Given the description of an element on the screen output the (x, y) to click on. 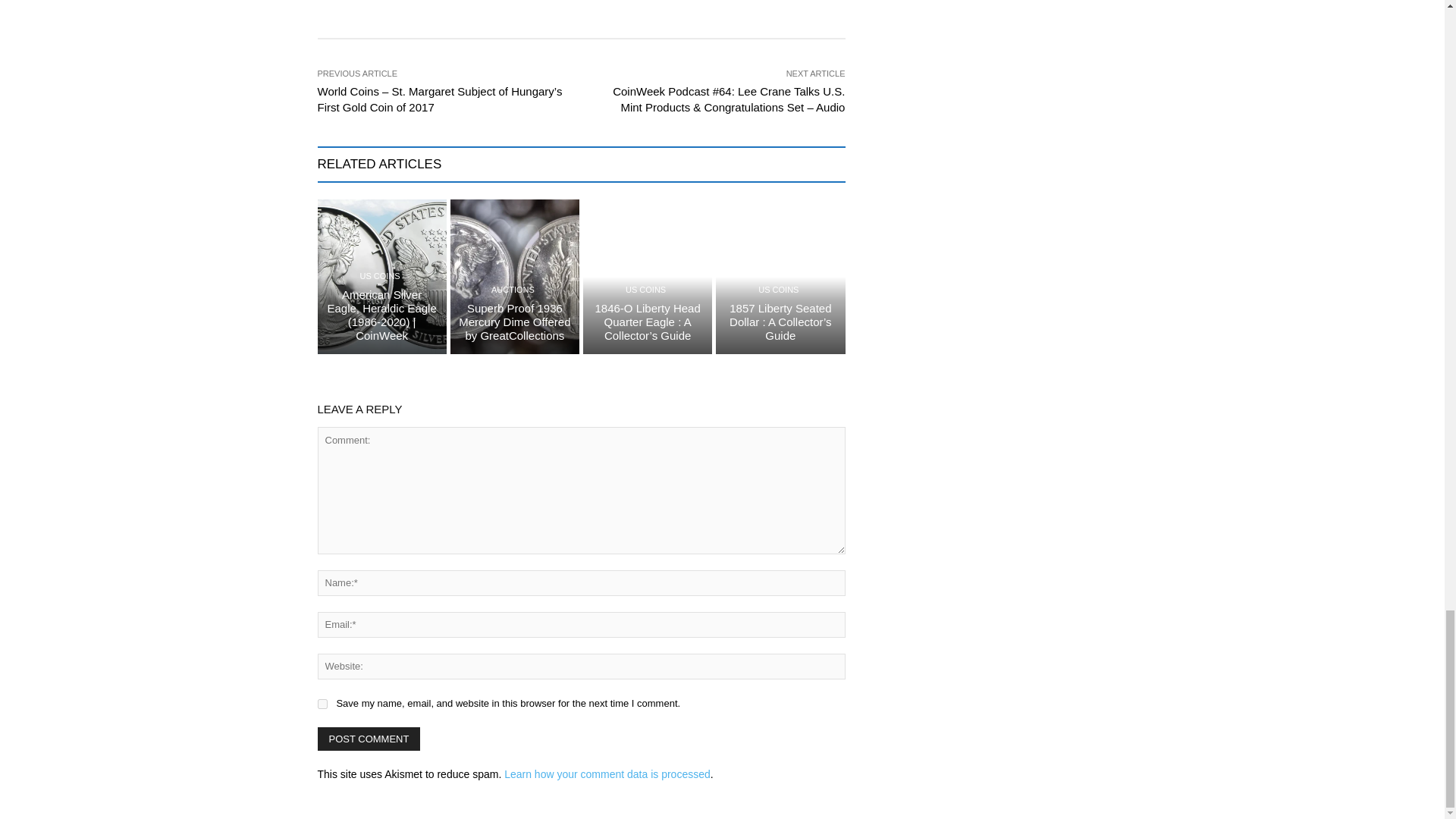
Superb Proof 1936 Mercury Dime Offered by GreatCollections (514, 322)
Post Comment (368, 739)
yes (321, 704)
